Given the description of an element on the screen output the (x, y) to click on. 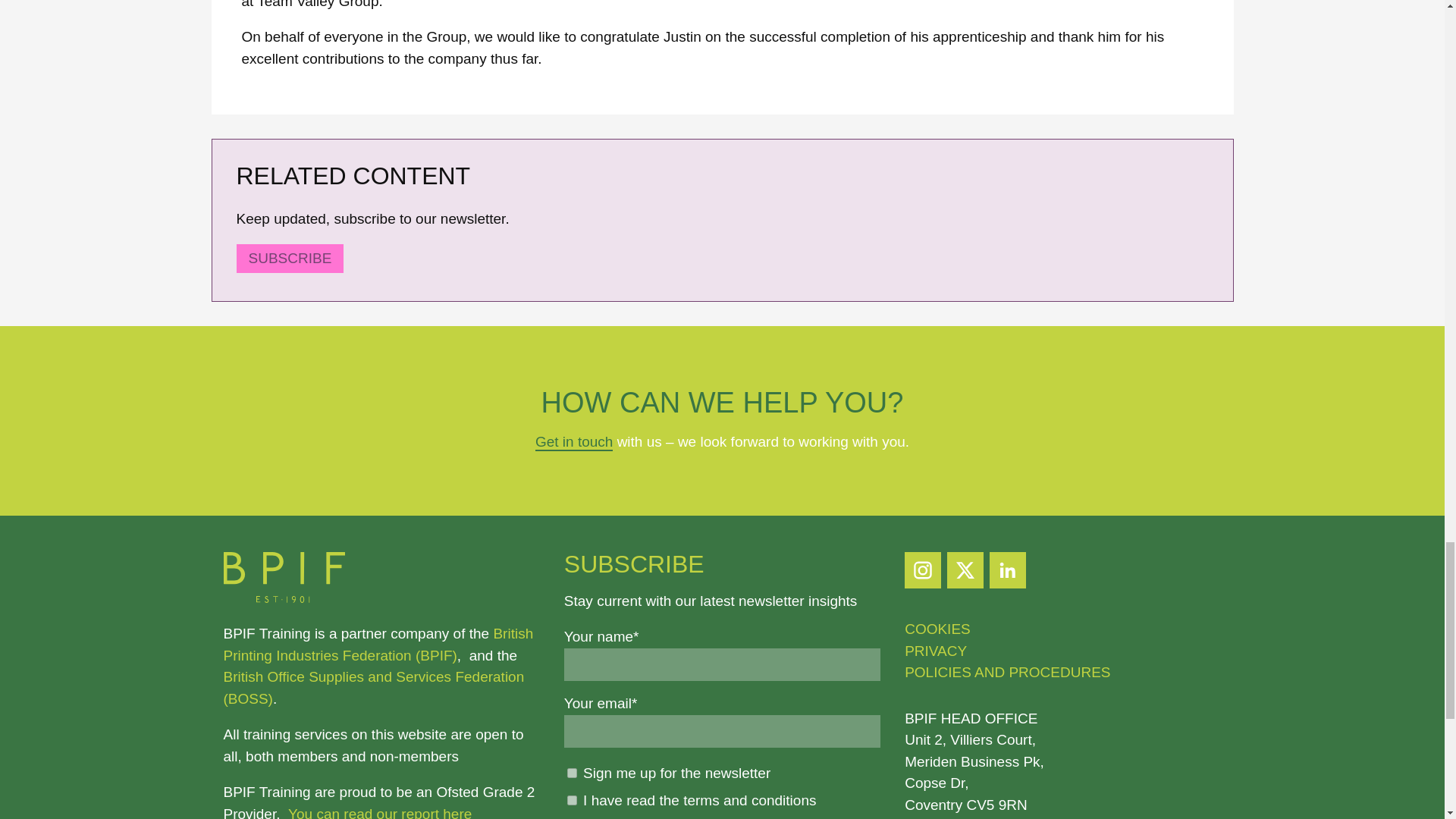
Get in touch (573, 442)
POLICIES AND PROCEDURES (1006, 672)
PRIVACY (935, 650)
Sign me up for the newsletter (571, 773)
BPIF Training (282, 597)
1 (571, 800)
You can read our report here (379, 812)
COOKIES (937, 628)
SUBSCRIBE (289, 258)
Get in touch (573, 442)
